Given the description of an element on the screen output the (x, y) to click on. 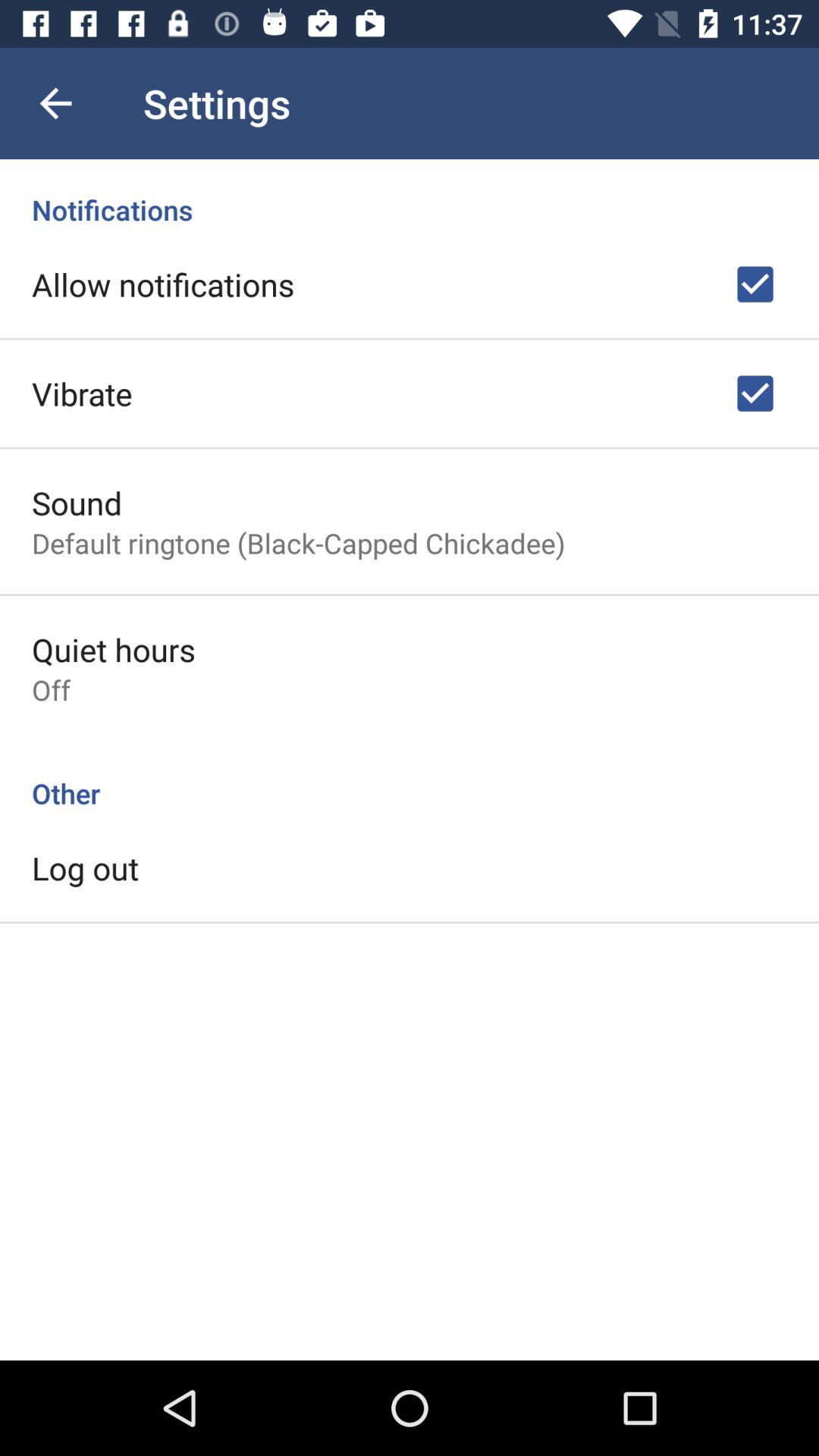
turn on icon below the sound item (298, 542)
